Given the description of an element on the screen output the (x, y) to click on. 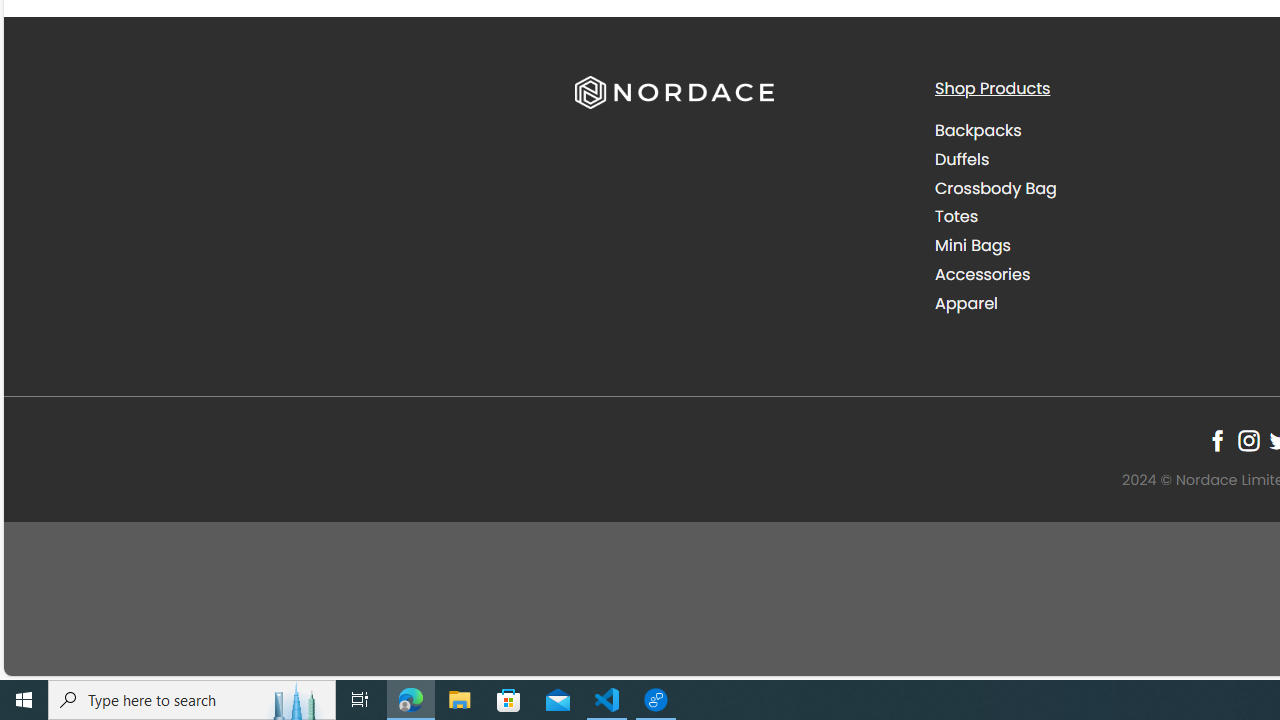
Follow on Instagram (1248, 440)
